Given the description of an element on the screen output the (x, y) to click on. 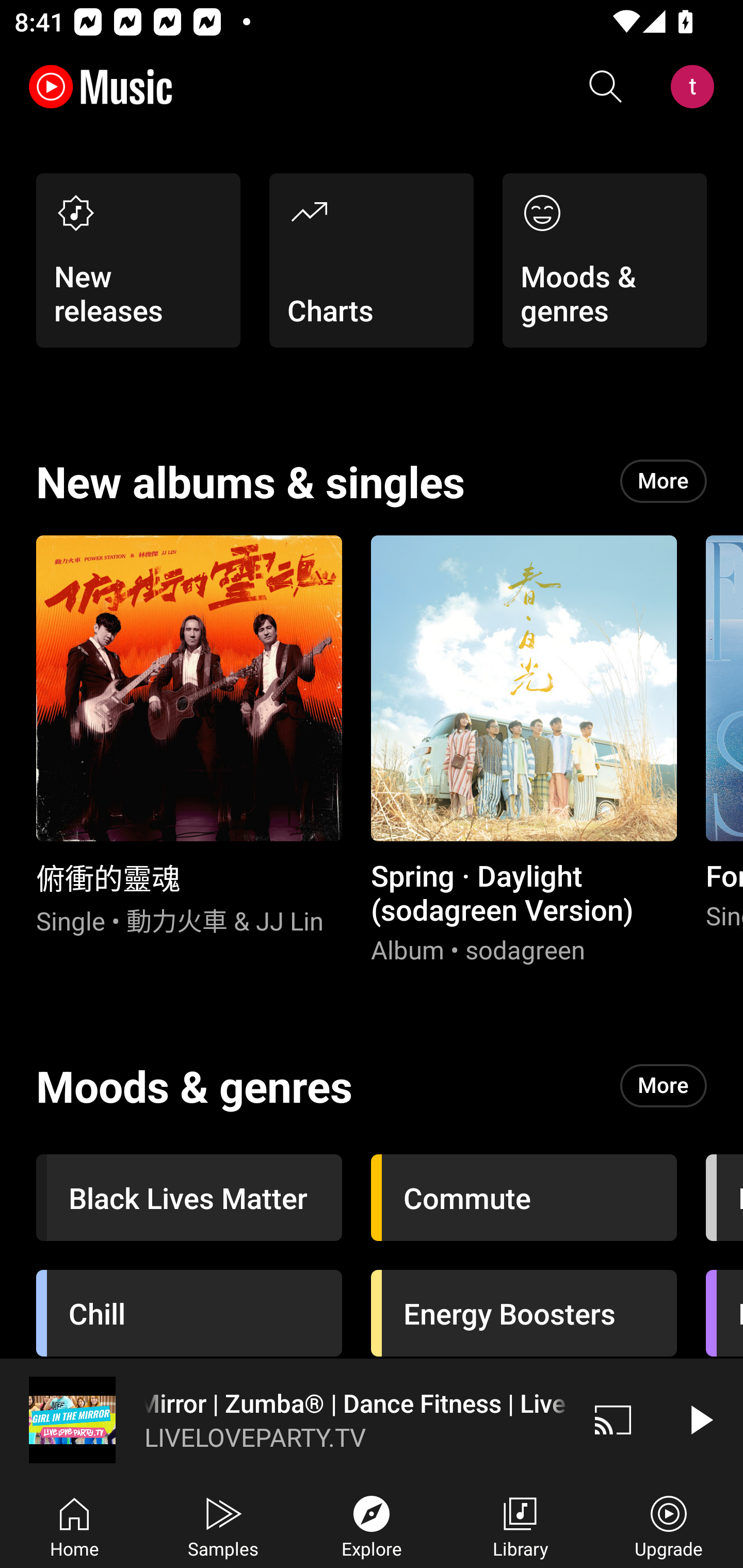
Search (605, 86)
Account (696, 86)
Cast. Disconnected (612, 1419)
Play video (699, 1419)
Home (74, 1524)
Samples (222, 1524)
Library (519, 1524)
Upgrade (668, 1524)
